Given the description of an element on the screen output the (x, y) to click on. 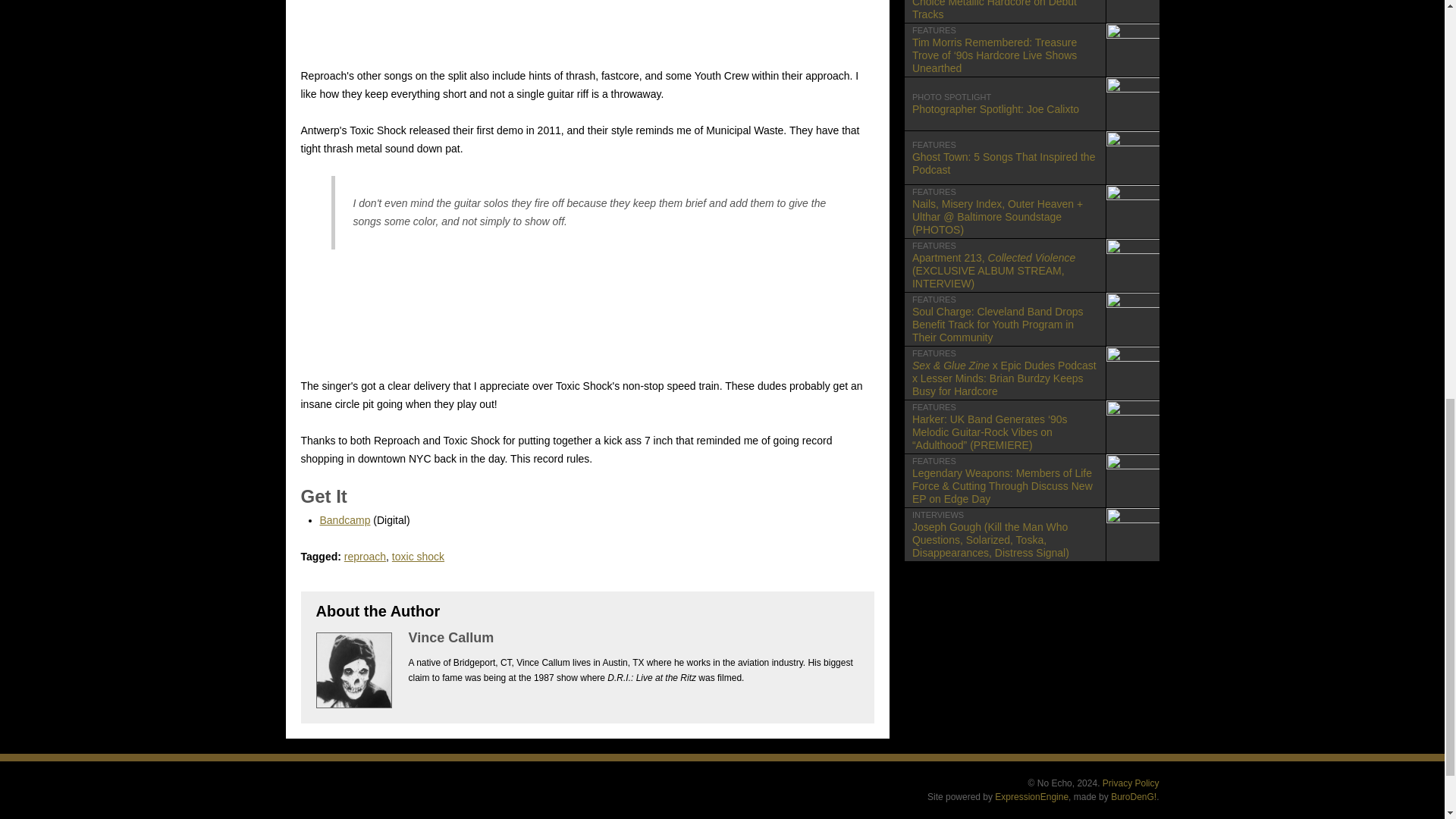
ExpressionEngine (1031, 796)
toxic shock (417, 556)
reproach (1031, 157)
BuroDenG! (1031, 103)
Bandcamp (364, 556)
Privacy Policy (1133, 796)
